Given the description of an element on the screen output the (x, y) to click on. 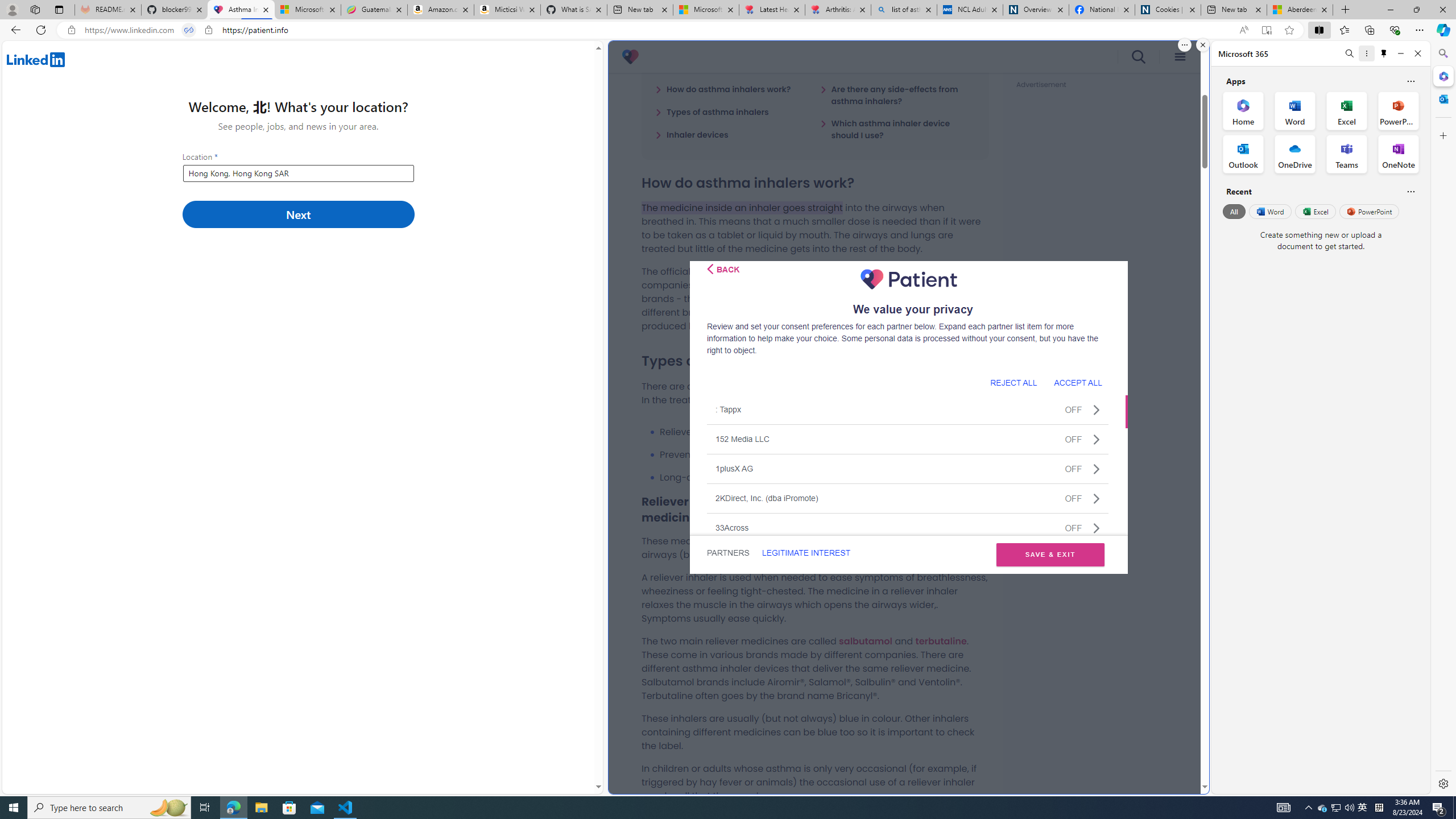
Excel Office App (1346, 110)
PARTNERS (728, 552)
: TappxOFF (907, 409)
How do asthma inhalers work? (722, 88)
Is this helpful? (1410, 191)
Long-acting bronchodilators. (823, 477)
PowerPoint (1369, 210)
REJECT ALL (1013, 382)
Class: css-jswnc6 (1096, 527)
Word Office App (1295, 110)
Which asthma inhaler device should I use? (897, 129)
